Given the description of an element on the screen output the (x, y) to click on. 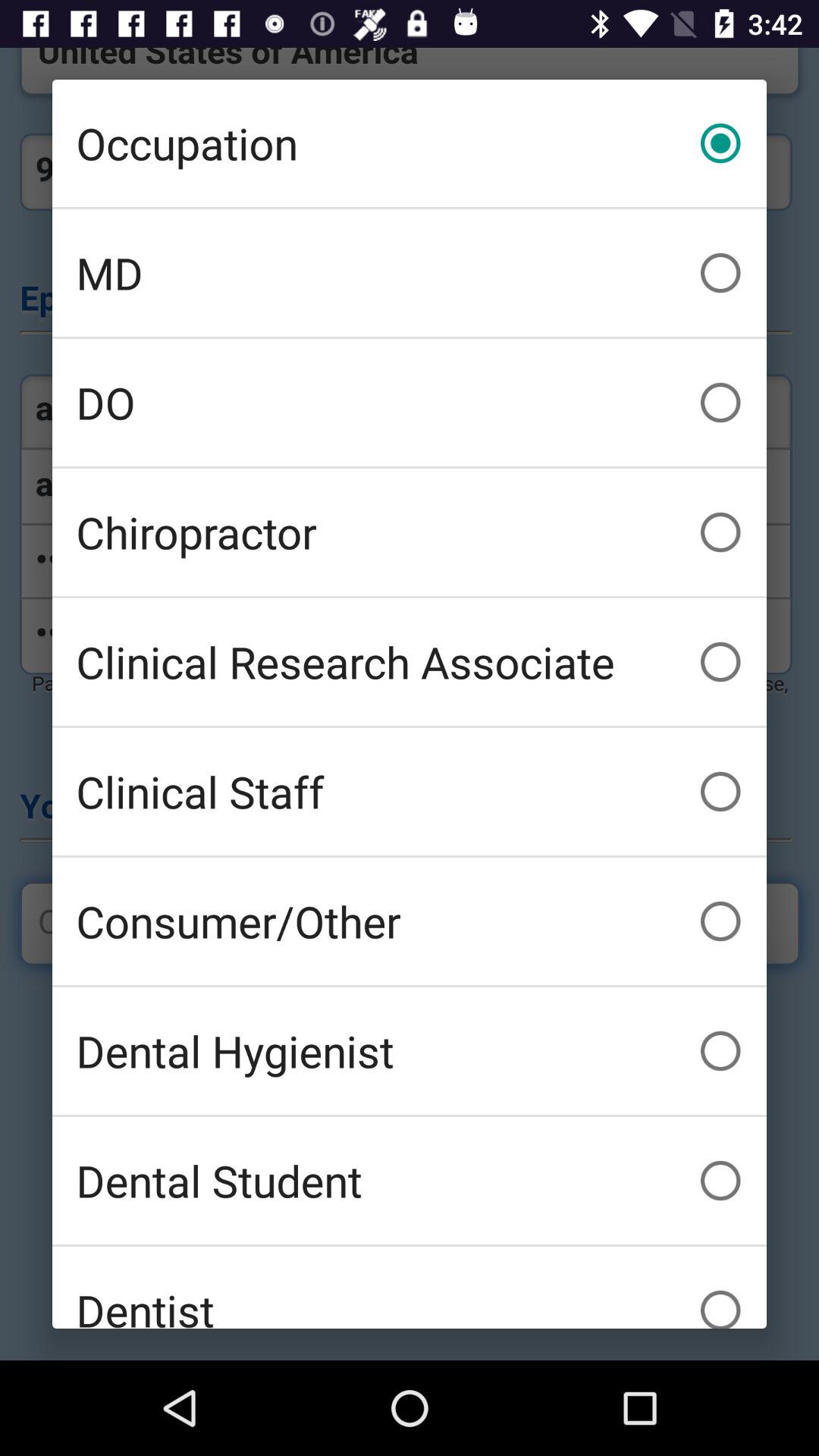
press the do item (409, 402)
